Given the description of an element on the screen output the (x, y) to click on. 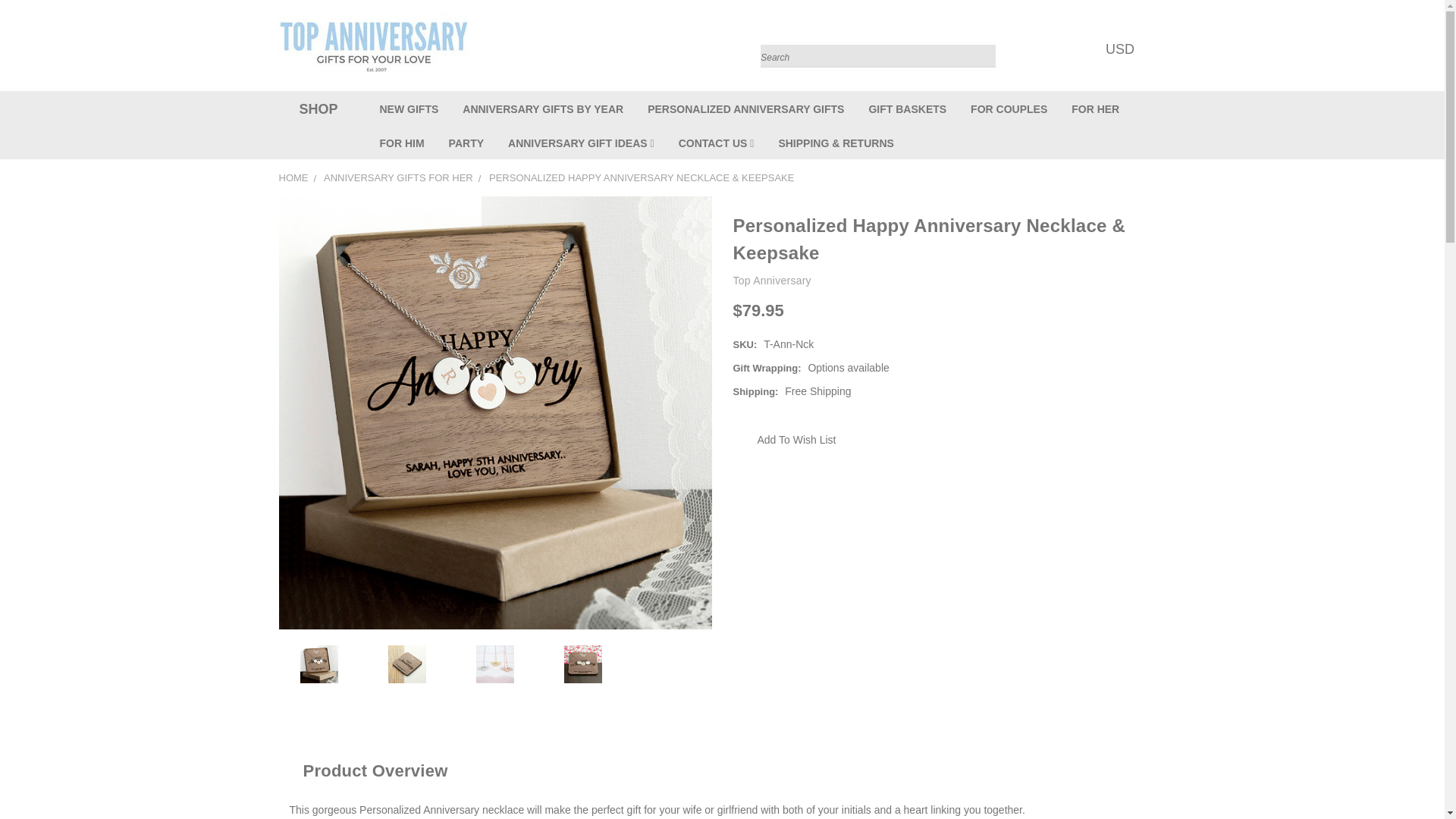
Currency Selector (1123, 49)
Gift Certificates (1082, 48)
Top Anniversary Gifts (373, 44)
USD (1123, 49)
Submit Search (983, 37)
SHOP (314, 109)
User Toolbox (1052, 48)
